Given the description of an element on the screen output the (x, y) to click on. 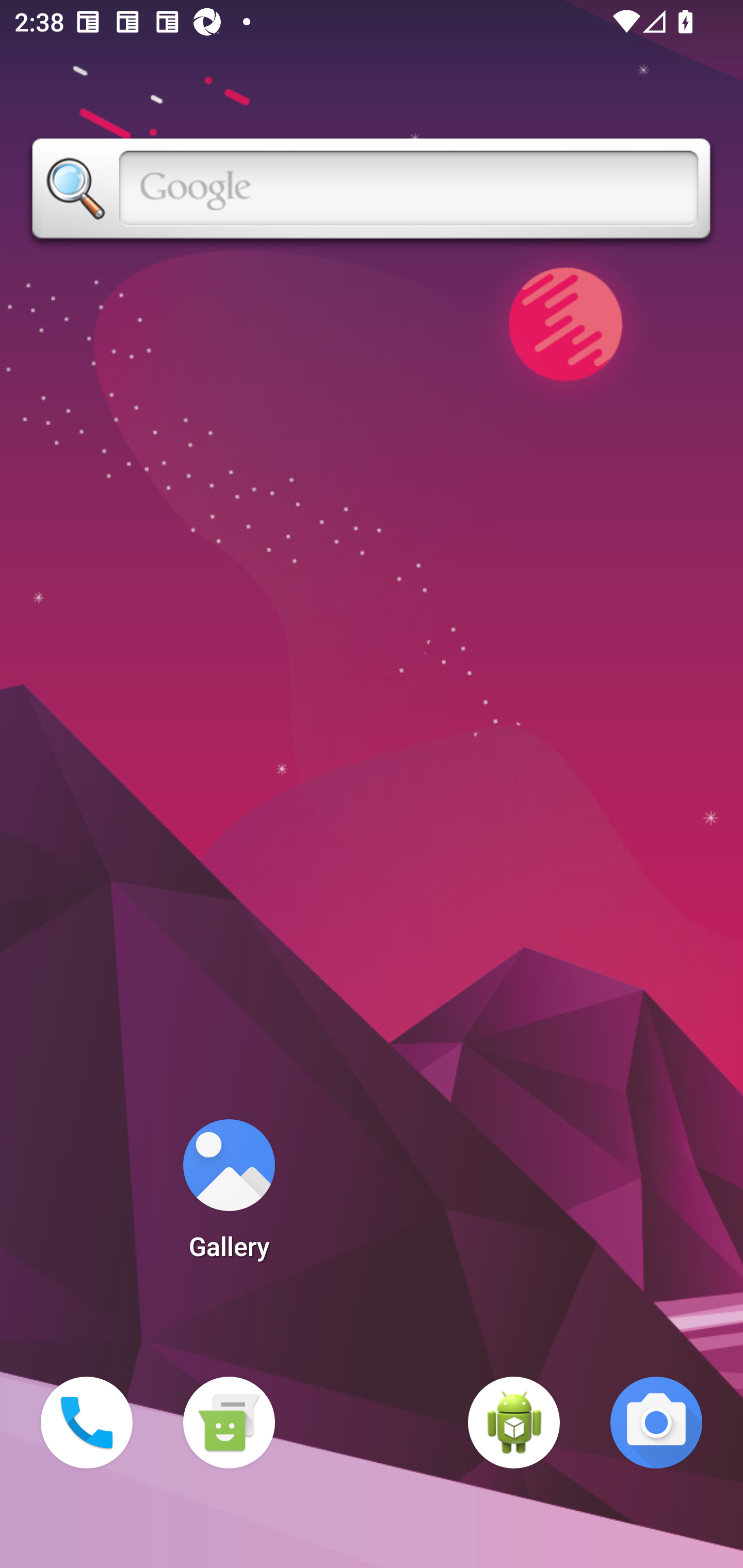
Gallery (228, 1195)
Phone (86, 1422)
Messaging (228, 1422)
WebView Browser Tester (513, 1422)
Camera (656, 1422)
